Given the description of an element on the screen output the (x, y) to click on. 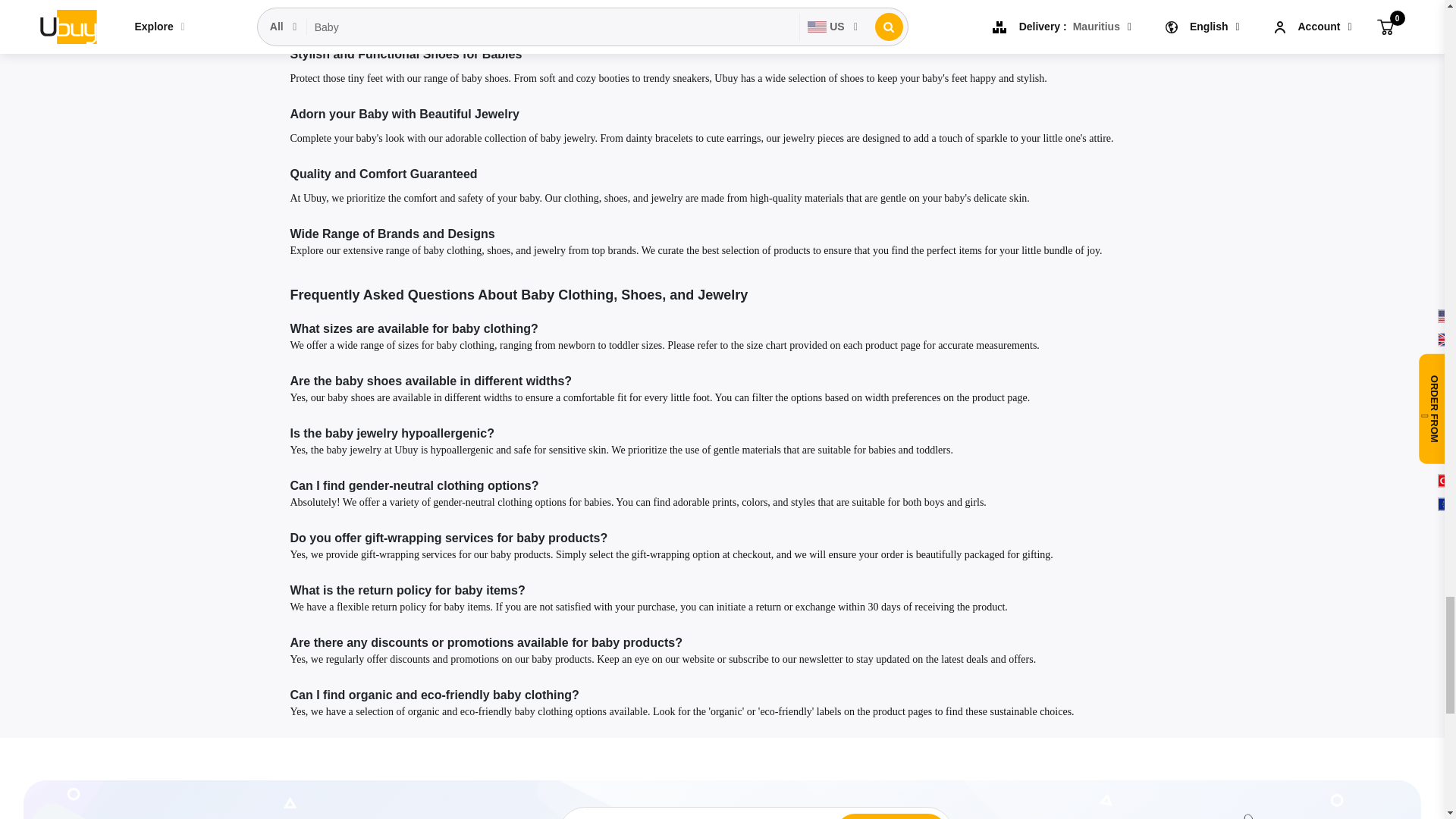
Subscribe (885, 818)
